Given the description of an element on the screen output the (x, y) to click on. 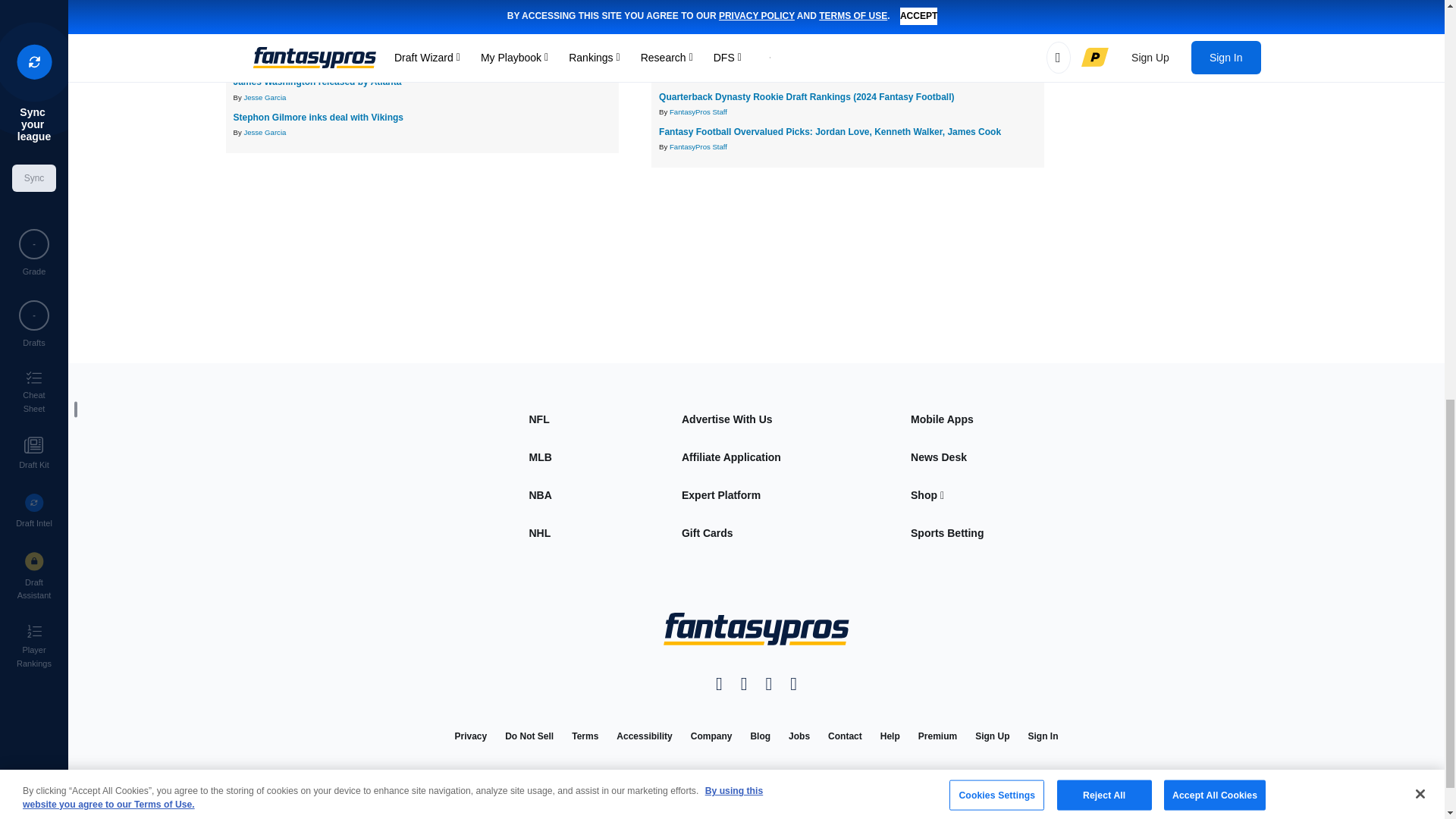
Ari Koslow (260, 61)
James Washington released by Atlanta (316, 81)
Stephon Gilmore inks deal with Vikings (318, 117)
Jordan Epp (262, 26)
Colt McCoy retiring from NFL after 12 seasons (332, 11)
Visit the FantasyPros Shop powered by Shopify.com (927, 494)
Jesse Garcia (264, 131)
Jesse Garcia (264, 97)
Max Duggan waived by the Chargers (311, 46)
Apply to be a News Desk correspondent (938, 457)
